Given the description of an element on the screen output the (x, y) to click on. 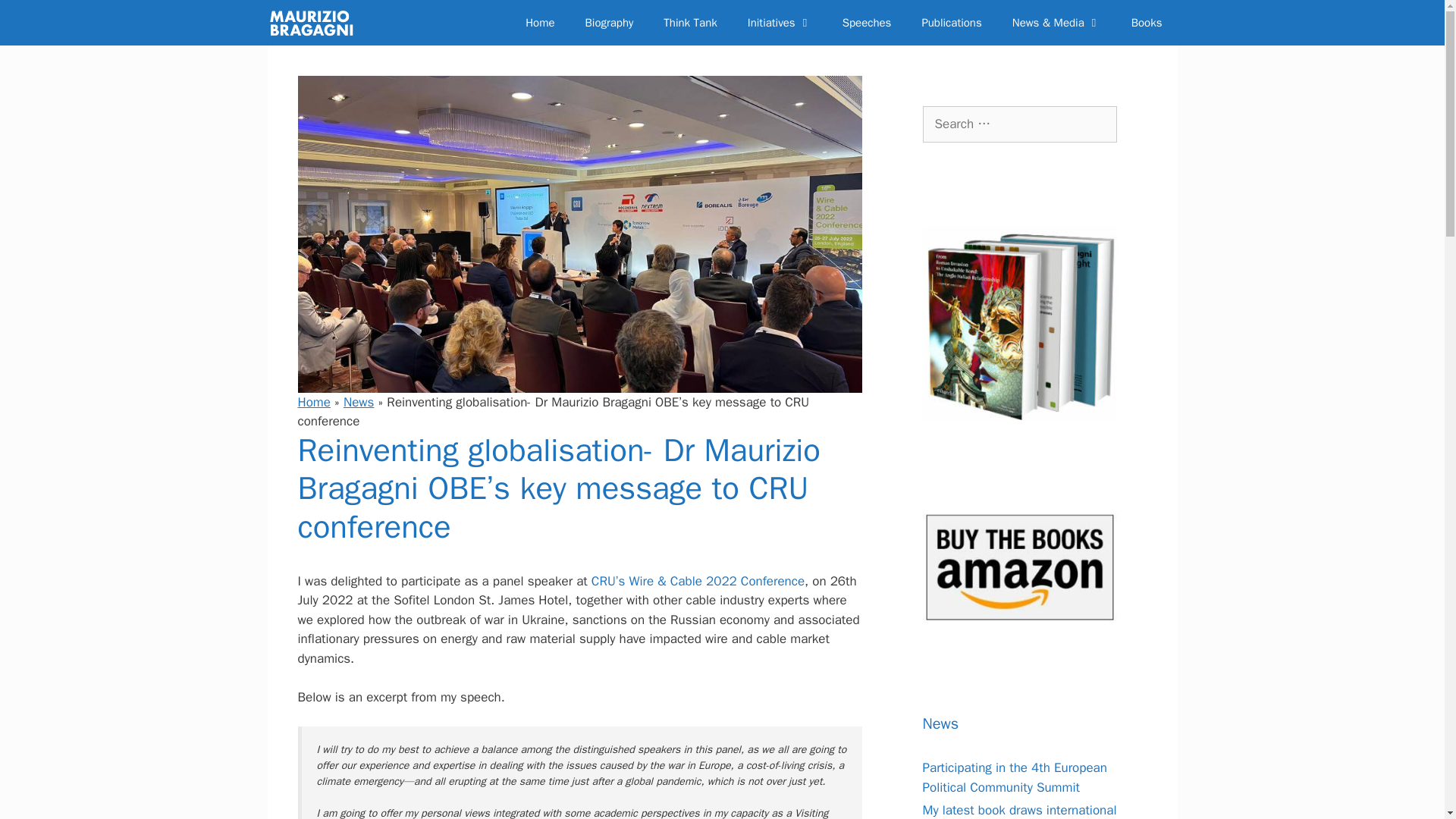
News (358, 401)
Home (540, 22)
Think Tank (689, 22)
Participating in the 4th European Political Community Summit (1013, 777)
Maurizio Bragagni (312, 22)
My latest book draws international attention (1018, 810)
Initiatives (779, 22)
Home (313, 401)
Search for: (1018, 124)
Search (34, 17)
Books (1146, 22)
Maurizio Bragagni (317, 22)
Speeches (867, 22)
Biography (609, 22)
Publications (950, 22)
